Given the description of an element on the screen output the (x, y) to click on. 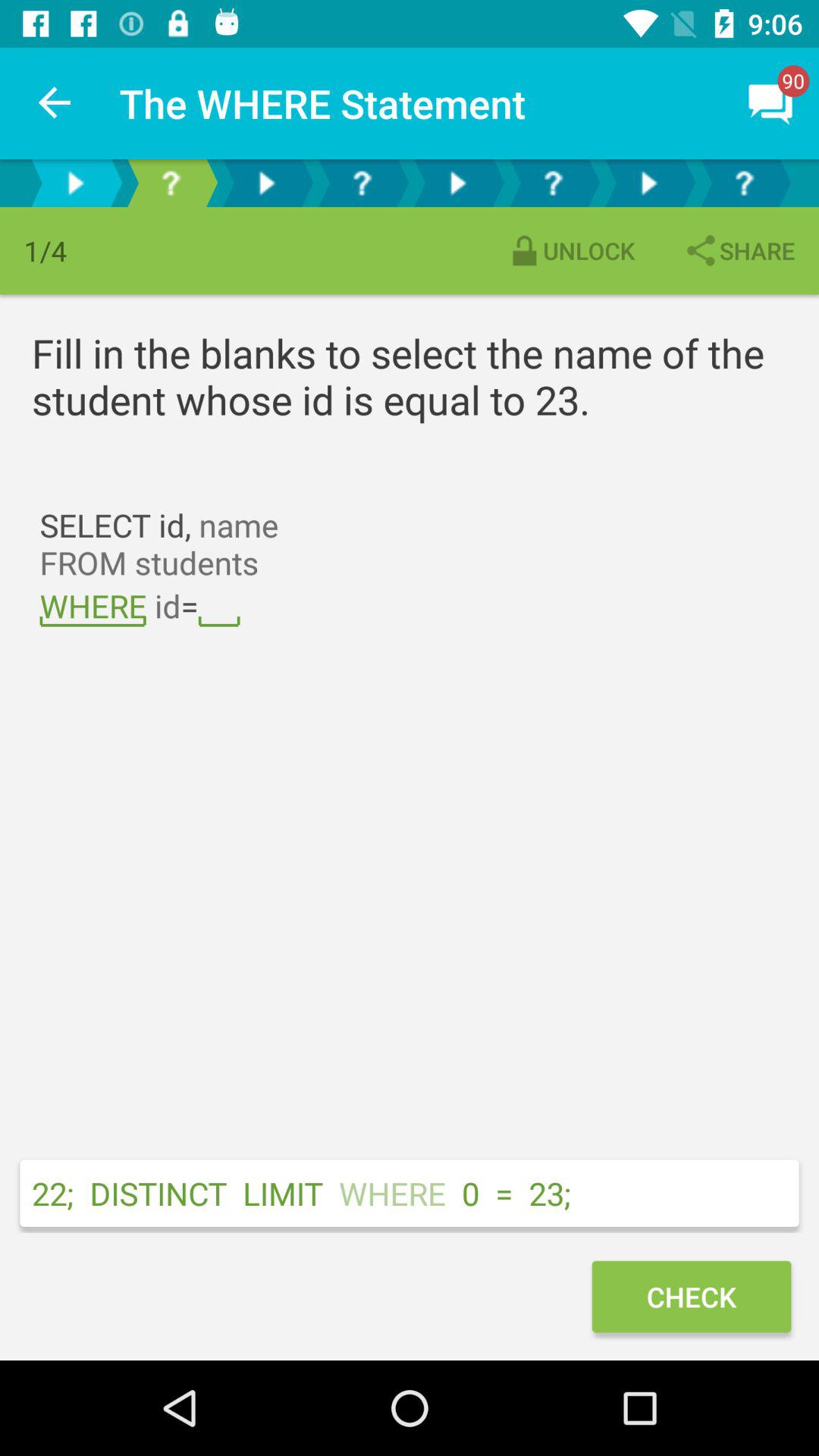
he can activate the simple voice command (265, 183)
